Given the description of an element on the screen output the (x, y) to click on. 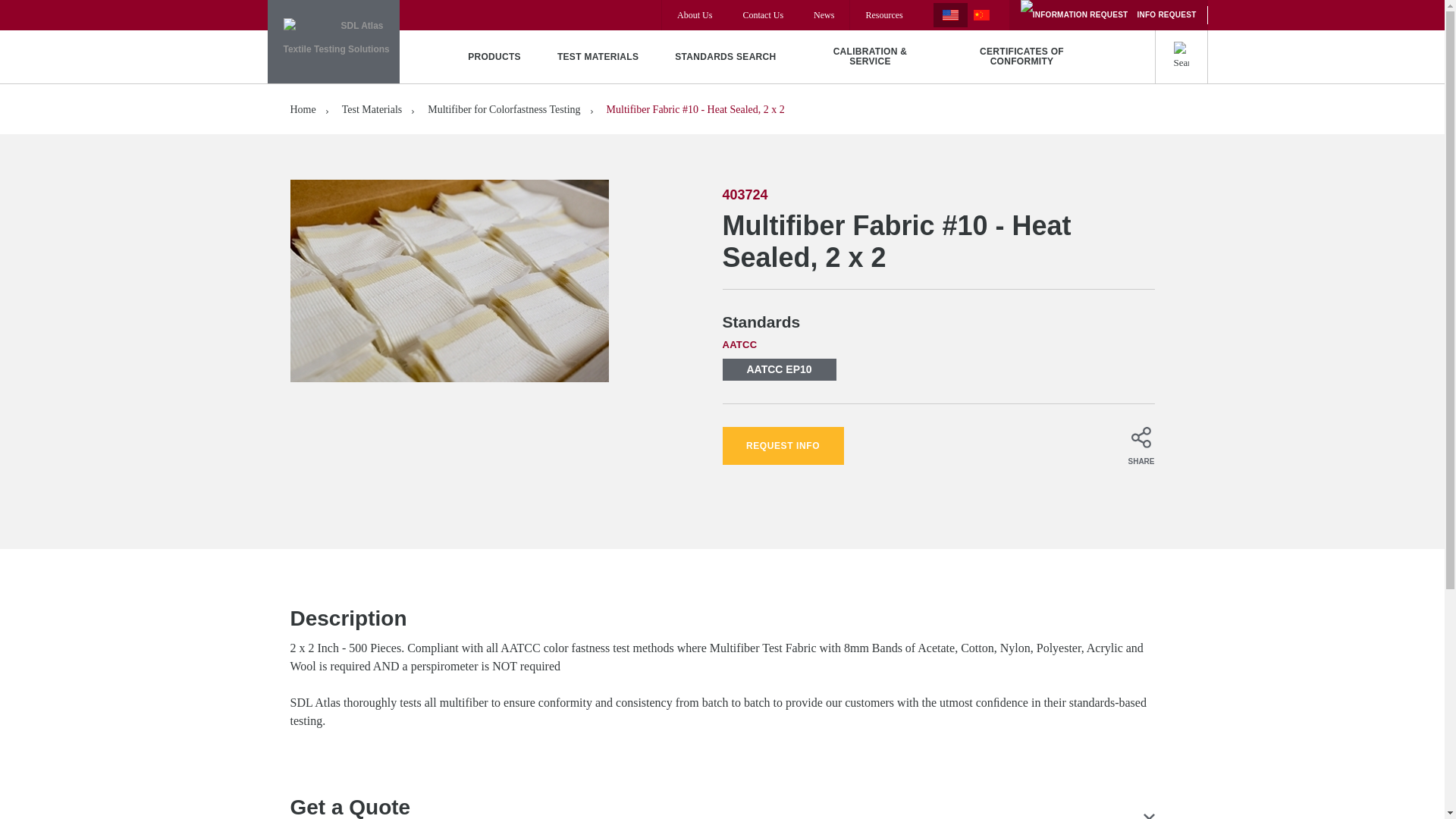
News (823, 14)
Textile Testing Solutions (332, 41)
INFO REQUEST (1108, 15)
Resources (883, 14)
PRODUCTS (494, 56)
TEST MATERIALS (598, 56)
About Us (694, 14)
Contact Us (762, 14)
